Given the description of an element on the screen output the (x, y) to click on. 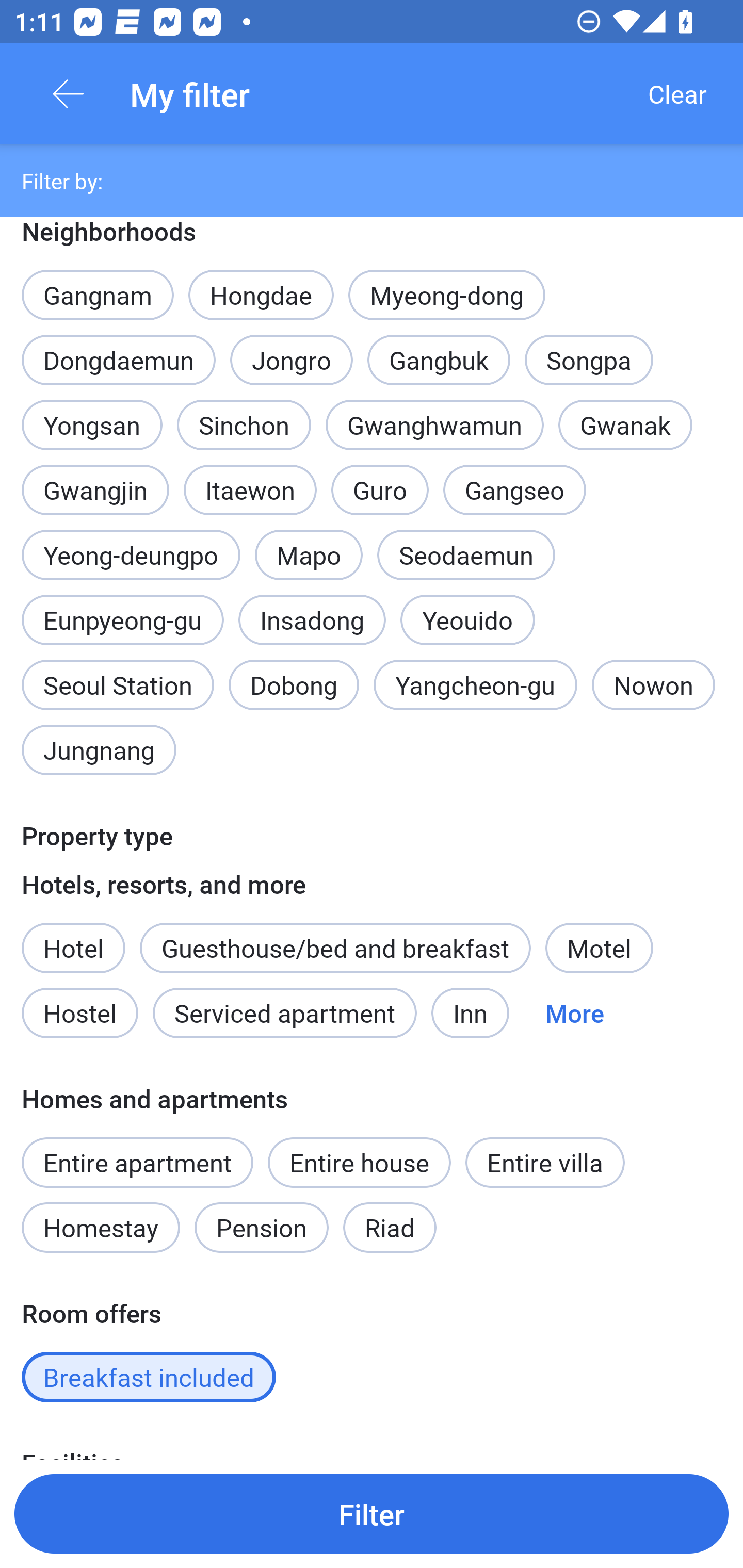
Clear (676, 93)
Gangnam (97, 284)
Hongdae (260, 295)
Myeong-dong (446, 295)
Dongdaemun (118, 359)
Jongro (291, 359)
Gangbuk (438, 348)
Songpa (588, 359)
Yongsan (91, 413)
Sinchon (243, 424)
Gwanghwamun (434, 424)
Gwanak (624, 424)
Gwangjin (95, 478)
Itaewon (249, 489)
Guro (379, 489)
Gangseo (514, 489)
Yeong-deungpo (130, 554)
Mapo (308, 544)
Seodaemun (466, 554)
Eunpyeong-gu (122, 620)
Insadong (311, 620)
Yeouido (467, 609)
Seoul Station (117, 684)
Dobong (293, 684)
Yangcheon-gu (475, 684)
Nowon (653, 684)
Jungnang (98, 750)
Hotel (73, 936)
Guesthouse/bed and breakfast (335, 947)
Motel (599, 947)
Hostel (79, 1012)
Serviced apartment (284, 1012)
Inn (470, 1012)
More (574, 1012)
Entire apartment (137, 1162)
Entire house (359, 1162)
Entire villa (544, 1162)
Homestay (100, 1227)
Pension (261, 1227)
Riad (389, 1227)
Filter (371, 1513)
